Given the description of an element on the screen output the (x, y) to click on. 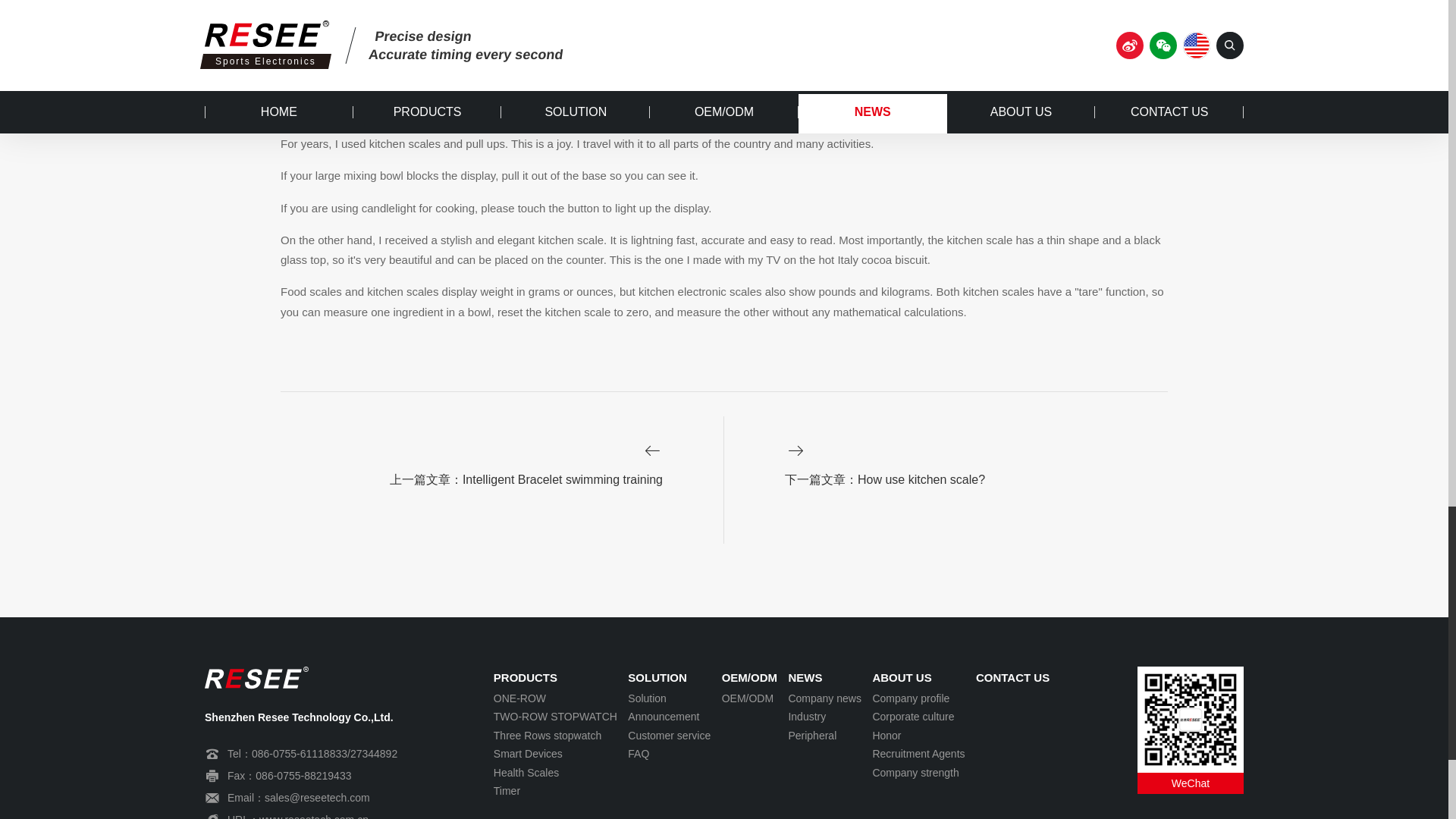
Smart Devices (555, 753)
TWO-ROW STOPWATCH (555, 716)
Three Rows stopwatch (555, 735)
ONE-ROW (555, 698)
PRODUCTS (555, 677)
